Given the description of an element on the screen output the (x, y) to click on. 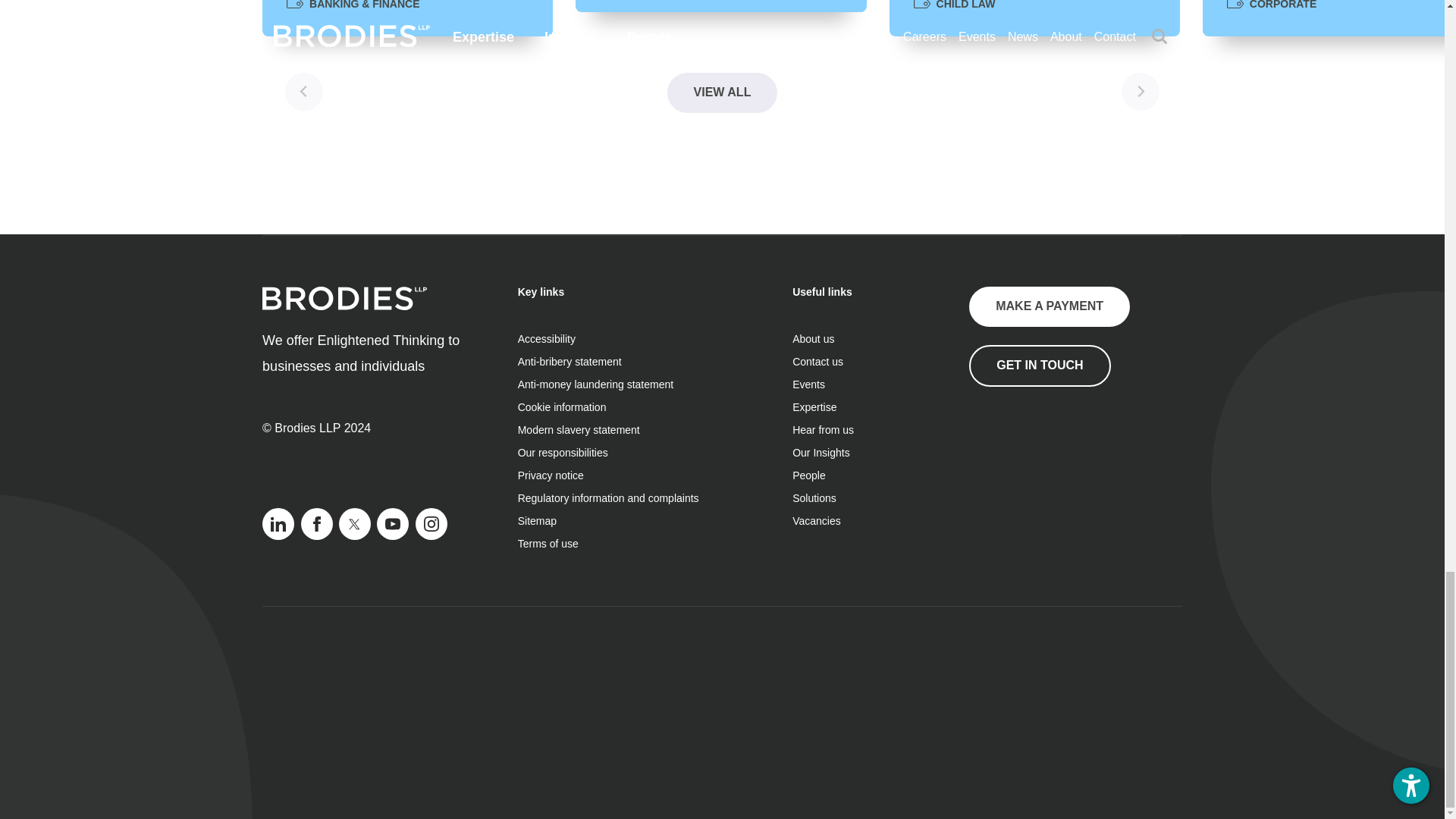
Solicitors Regulation Authority link (1045, 461)
Brodies (344, 298)
Youtube logo (392, 523)
Click to return to the homepage (344, 305)
